Given the description of an element on the screen output the (x, y) to click on. 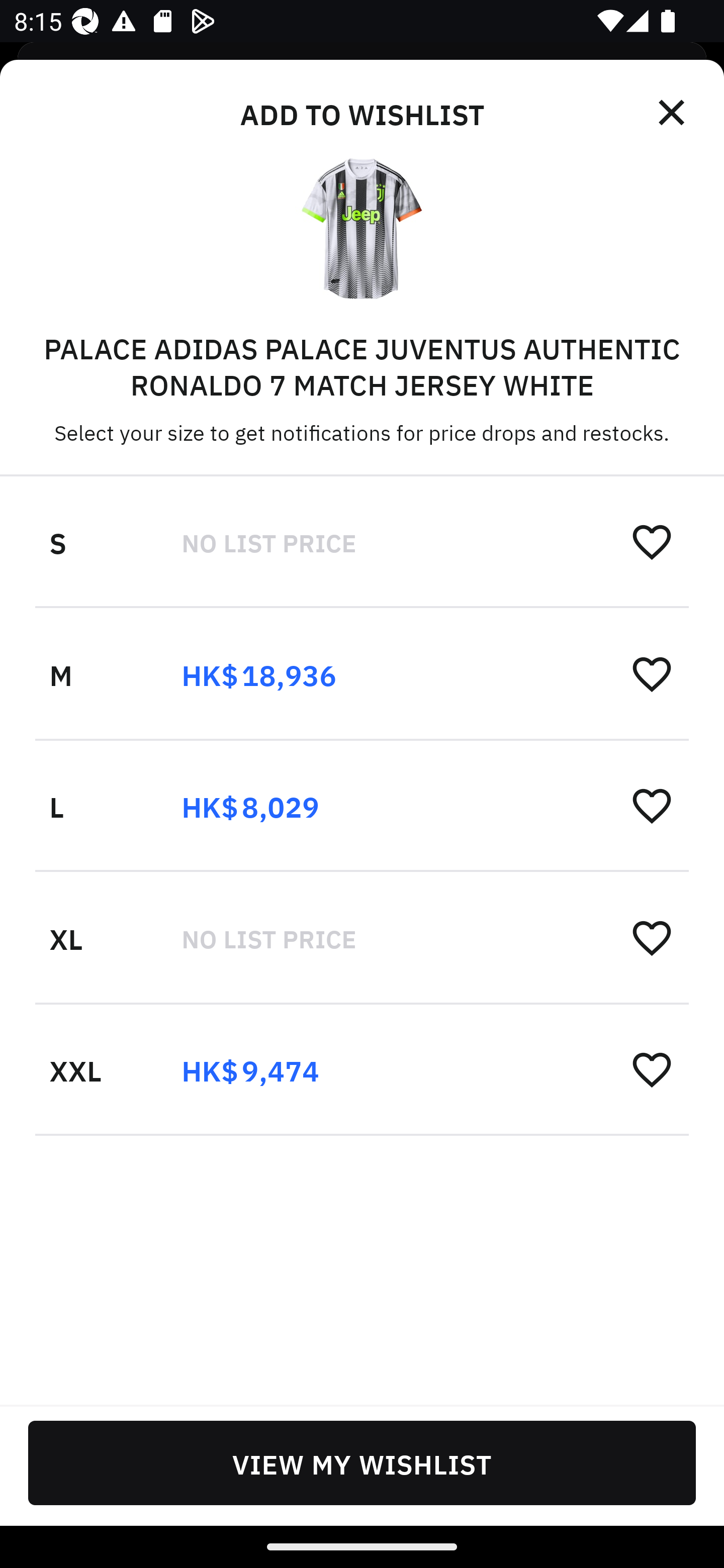
 (672, 112)
󰋕 (651, 541)
󰋕 (651, 673)
󰋕 (651, 804)
󰋕 (651, 936)
󰋕 (651, 1068)
VIEW MY WISHLIST (361, 1462)
